Given the description of an element on the screen output the (x, y) to click on. 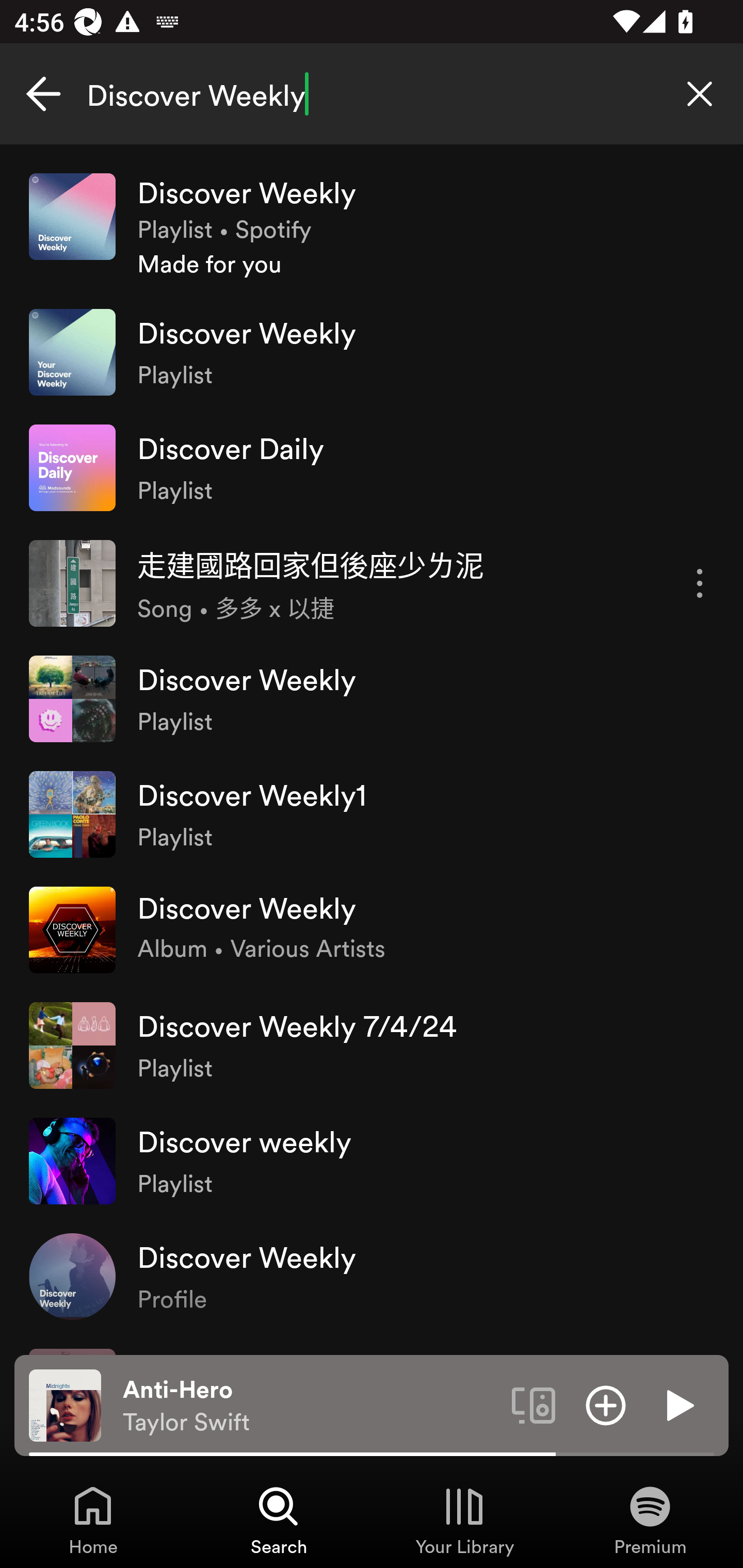
Discover Weekly (371, 93)
Cancel (43, 93)
Clear search query (699, 93)
Discover Weekly Playlist • Spotify Made for you (371, 226)
Discover Weekly Playlist (371, 352)
Discover Daily Playlist (371, 467)
More options for song 走建國路回家但後座少ㄌ泥 (699, 583)
Discover Weekly Playlist (371, 699)
Discover Weekly1 Playlist (371, 814)
Discover Weekly Album • Various Artists (371, 929)
Discover Weekly 7/4/24 Playlist (371, 1045)
Discover weekly Playlist (371, 1160)
Discover Weekly Profile (371, 1276)
Anti-Hero Taylor Swift (309, 1405)
The cover art of the currently playing track (64, 1404)
Connect to a device. Opens the devices menu (533, 1404)
Add item (605, 1404)
Play (677, 1404)
Home, Tab 1 of 4 Home Home (92, 1519)
Search, Tab 2 of 4 Search Search (278, 1519)
Your Library, Tab 3 of 4 Your Library Your Library (464, 1519)
Premium, Tab 4 of 4 Premium Premium (650, 1519)
